Given the description of an element on the screen output the (x, y) to click on. 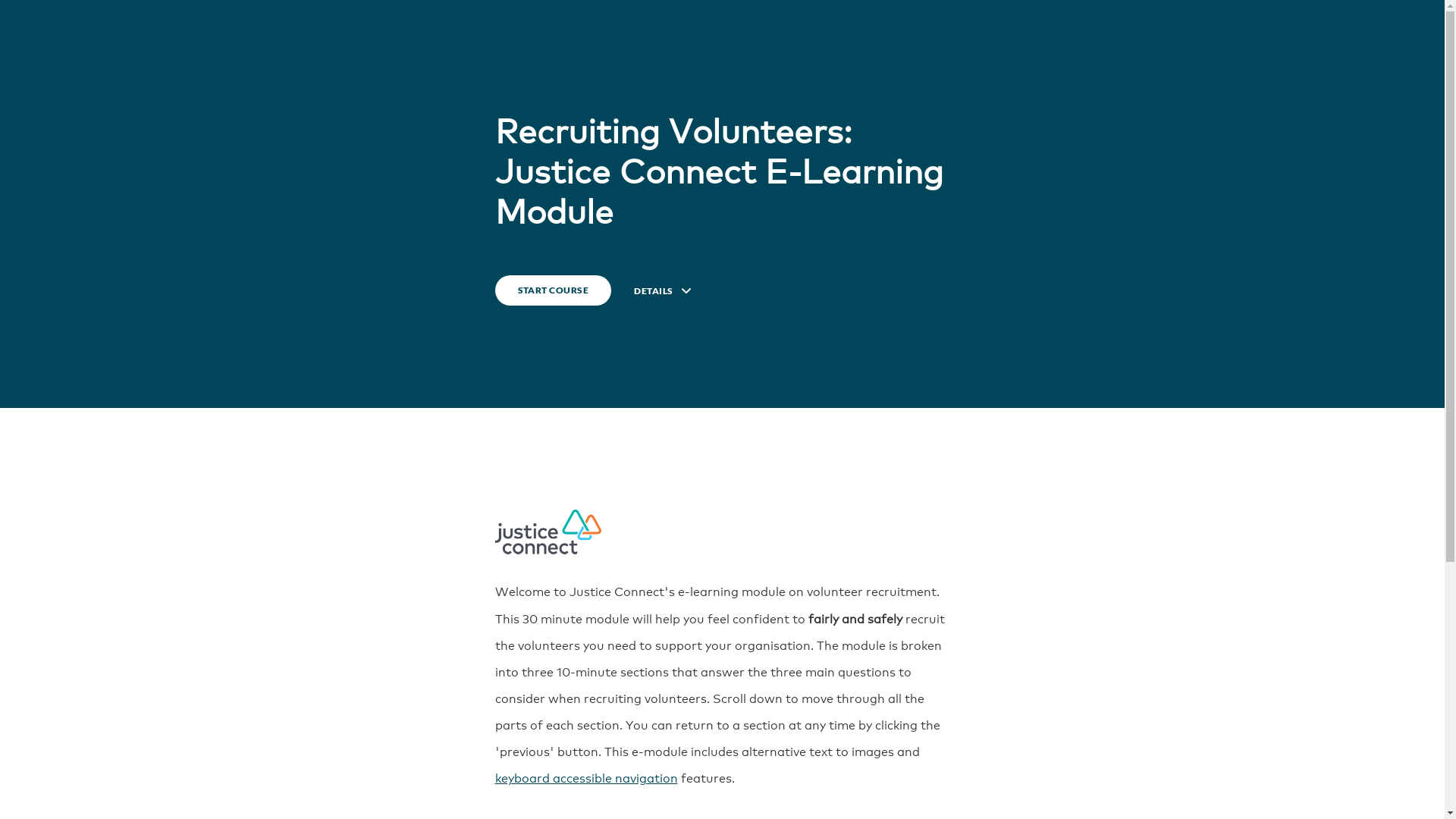
START COURSE Element type: text (552, 290)
keyboard accessible navigation Element type: text (585, 776)
DETAILSMORECARET POINTING DOWN Element type: text (661, 290)
